Given the description of an element on the screen output the (x, y) to click on. 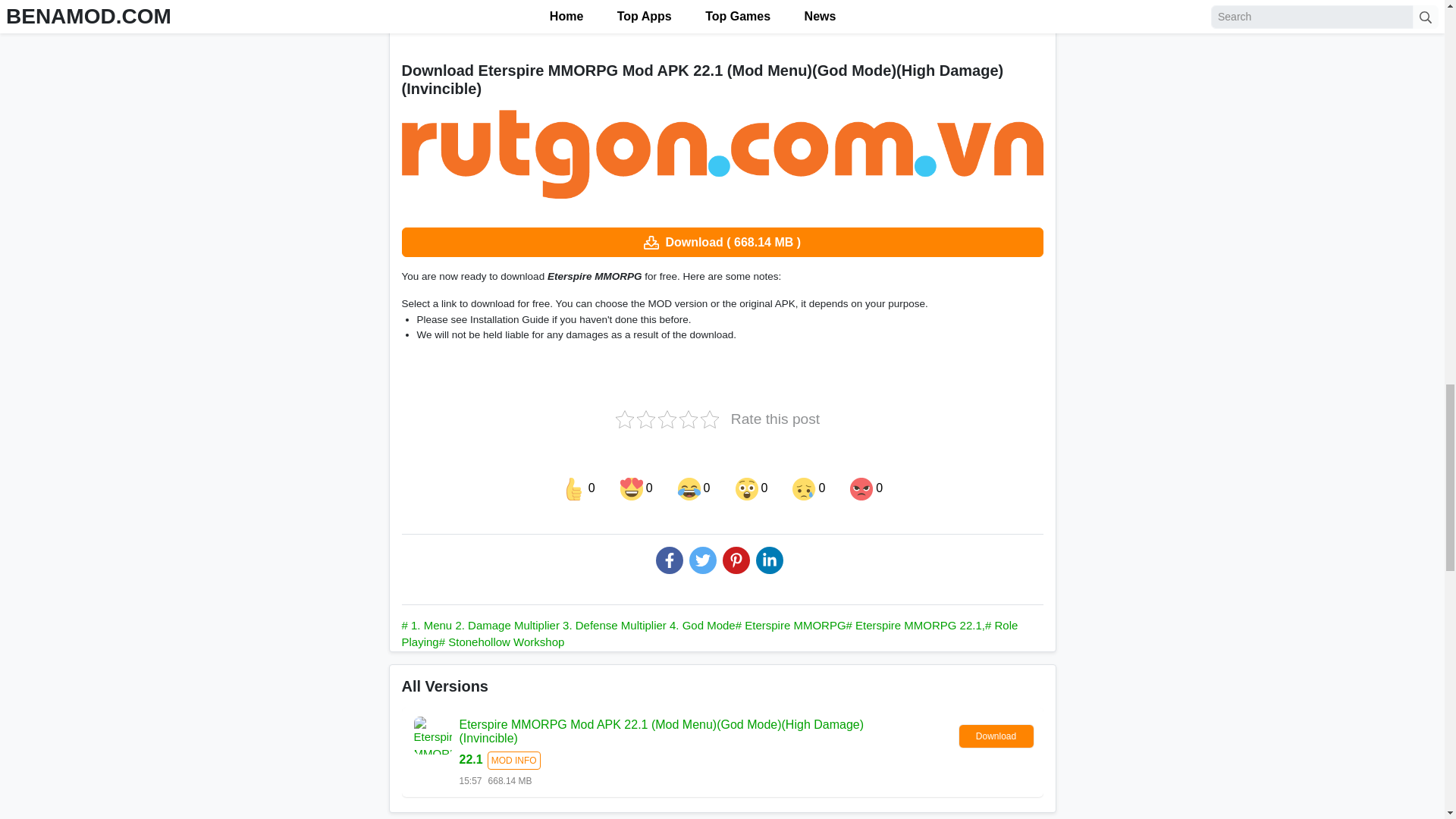
Eterspire MMORPG tag (790, 625)
Eterspire MMORPG 22.1, tag (915, 625)
Role Playing tag (709, 634)
